Given the description of an element on the screen output the (x, y) to click on. 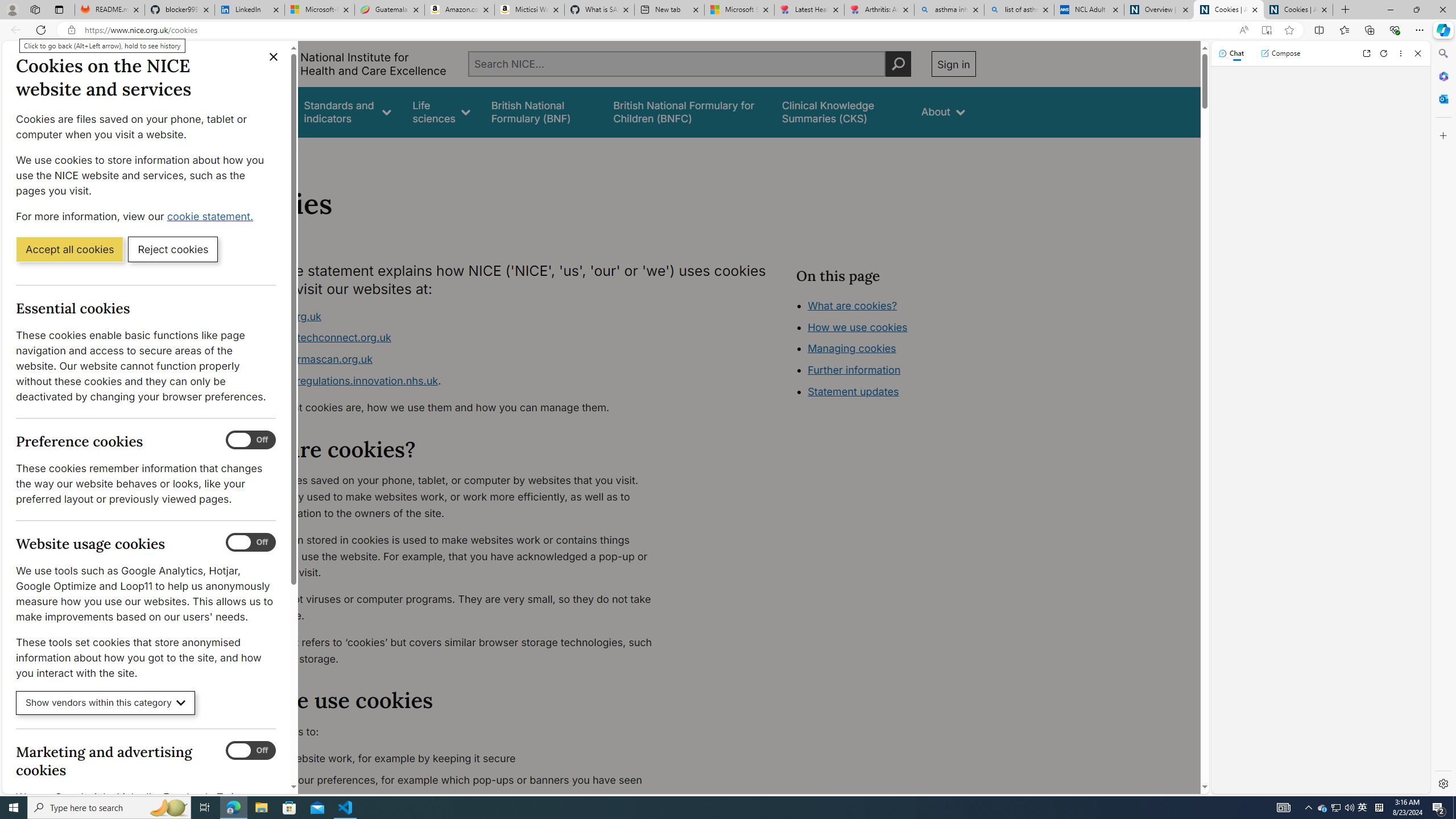
Further information (854, 369)
www.healthtechconnect.org.uk (452, 338)
www.digitalregulations.innovation.nhs.uk. (452, 380)
www.ukpharmascan.org.uk (305, 359)
www.healthtechconnect.org.uk (314, 337)
